Given the description of an element on the screen output the (x, y) to click on. 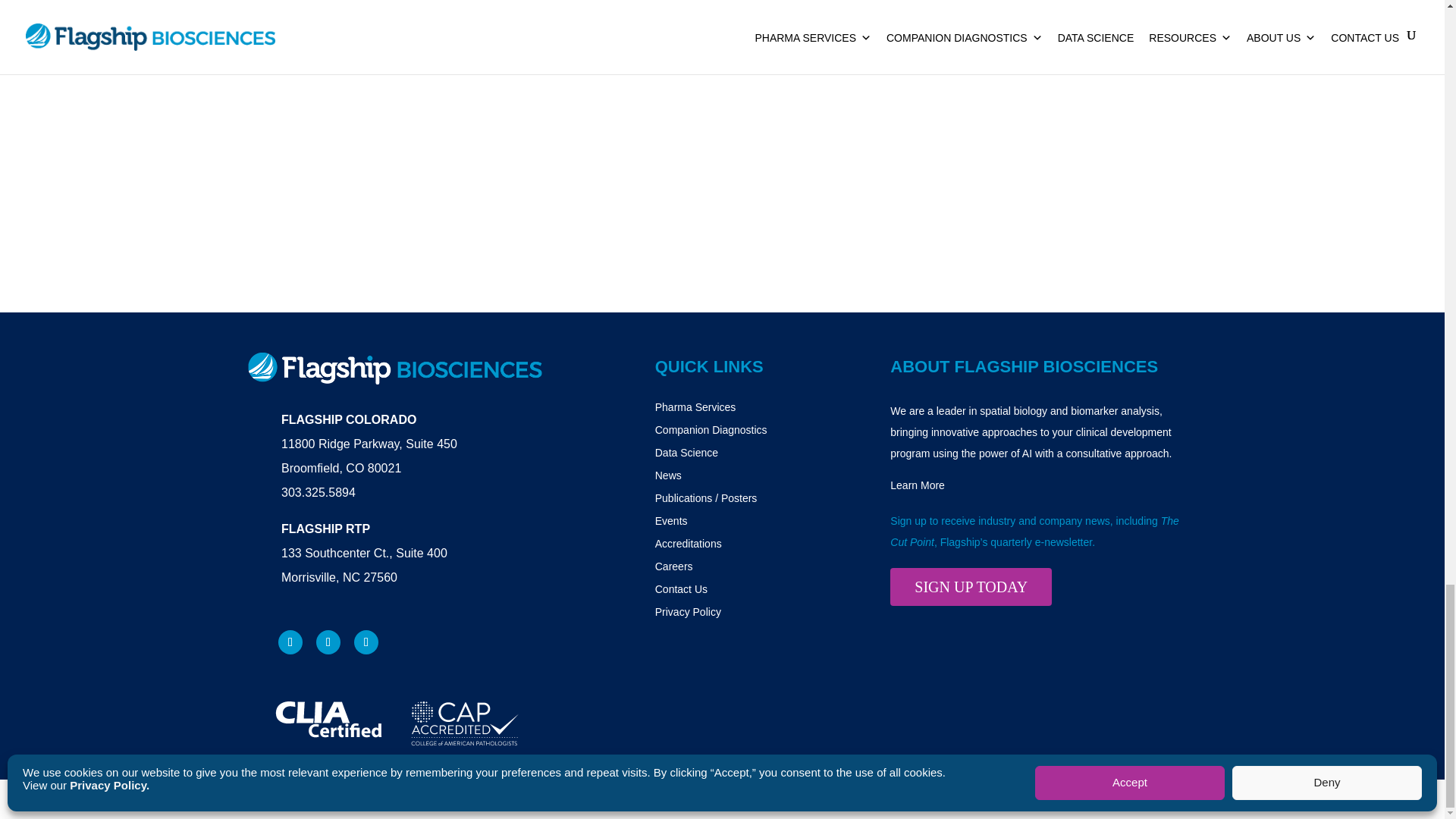
flagshipbio-horz-logo-rev-d-3-2X (394, 368)
Follow on X (365, 641)
Follow on LinkedIn (327, 641)
